Given the description of an element on the screen output the (x, y) to click on. 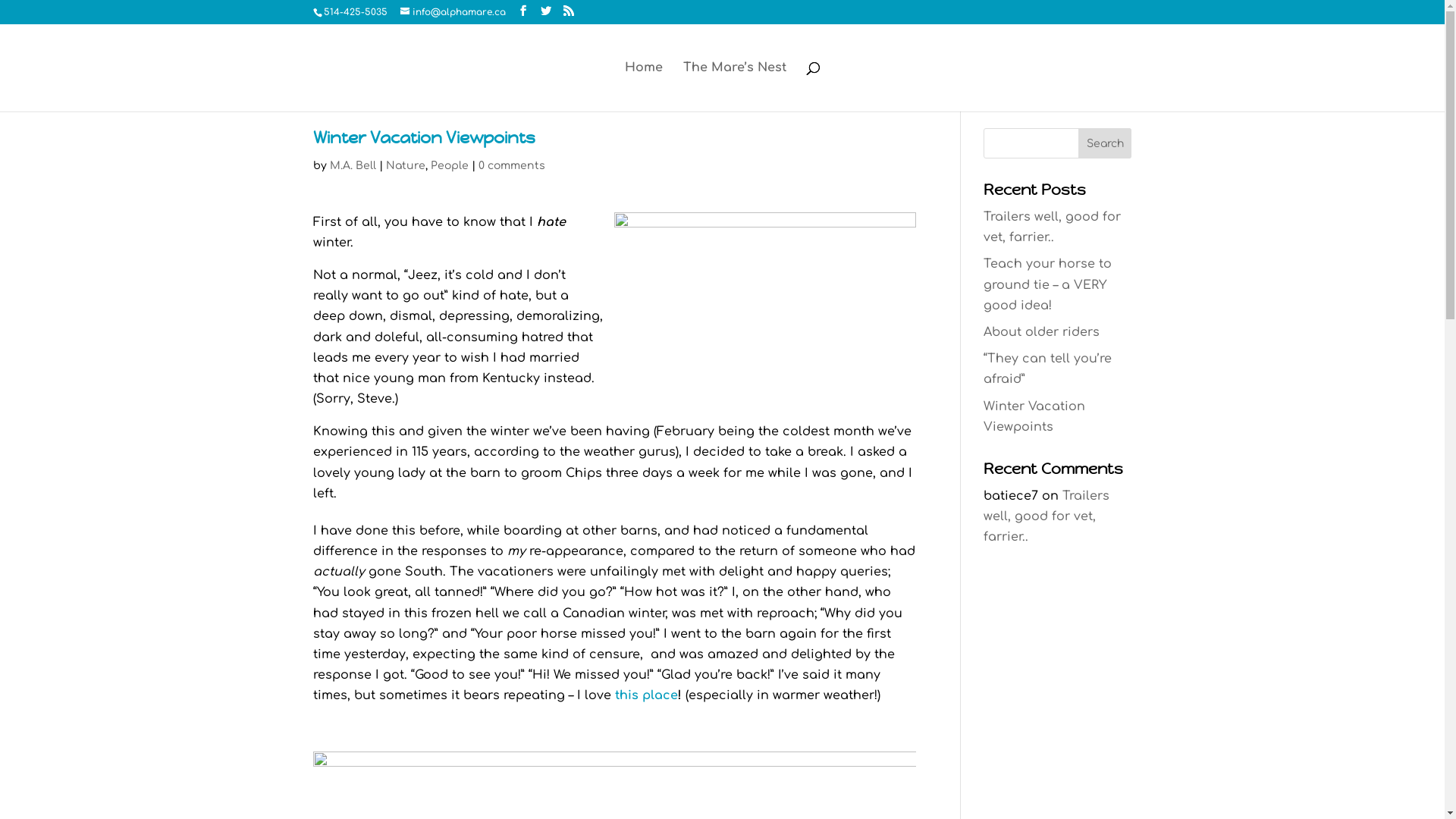
Trailers well, good for vet, farrier.. Element type: text (1051, 227)
this place Element type: text (645, 695)
M.A. Bell Element type: text (352, 165)
People Element type: text (449, 165)
Search Element type: text (1105, 143)
Home Element type: text (643, 86)
Nature Element type: text (404, 165)
Trailers well, good for vet, farrier.. Element type: text (1046, 516)
About older riders Element type: text (1041, 331)
0 comments Element type: text (510, 165)
Winter Vacation Viewpoints Element type: text (1034, 415)
info@alphamare.ca Element type: text (452, 11)
